Given the description of an element on the screen output the (x, y) to click on. 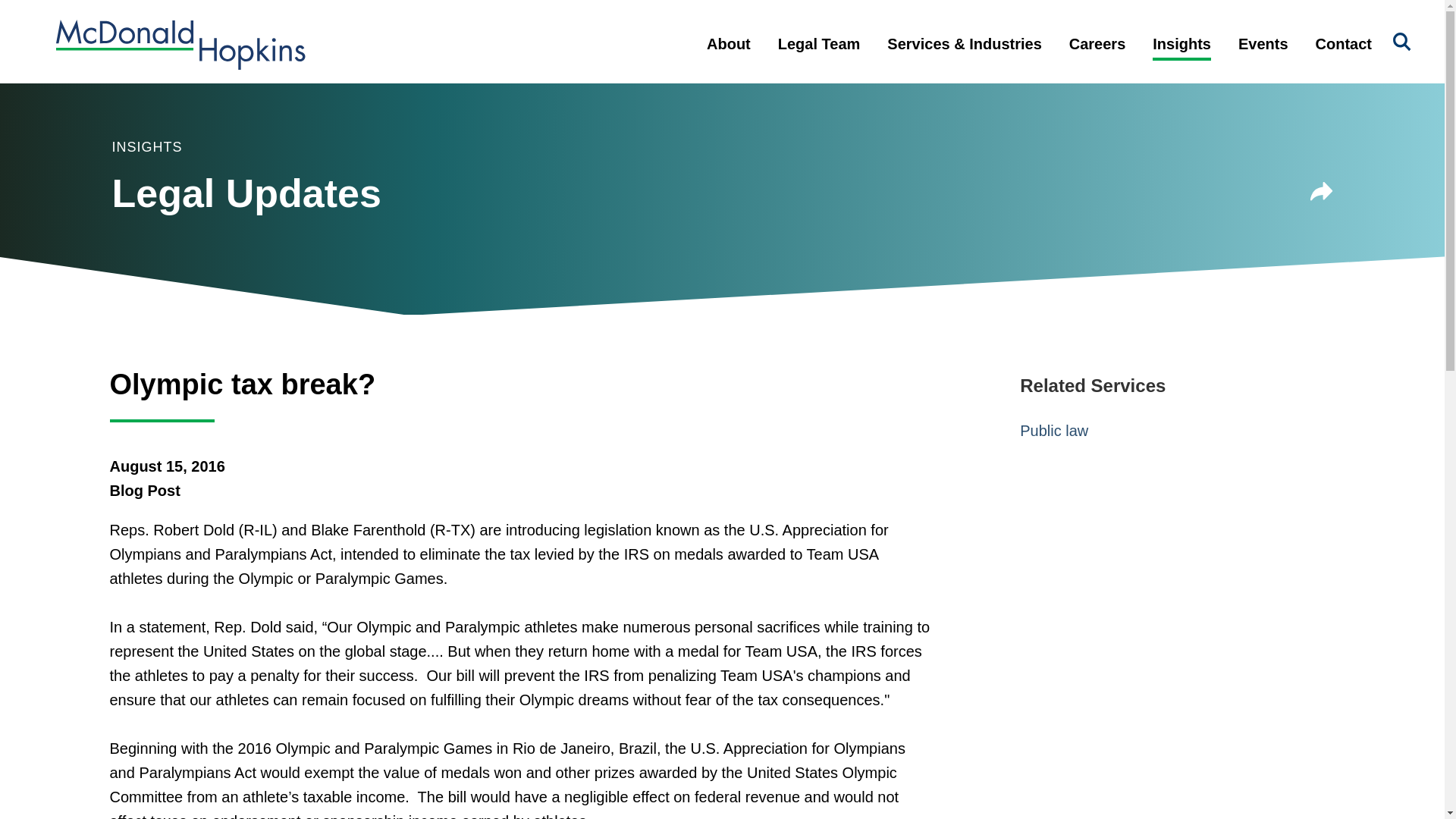
Menu (673, 20)
Search (1401, 41)
Main Content (666, 20)
Legal Team (819, 55)
About (728, 55)
Share (1321, 194)
Share (1321, 190)
Events (1262, 55)
Share (1321, 194)
Insights (1181, 55)
